Given the description of an element on the screen output the (x, y) to click on. 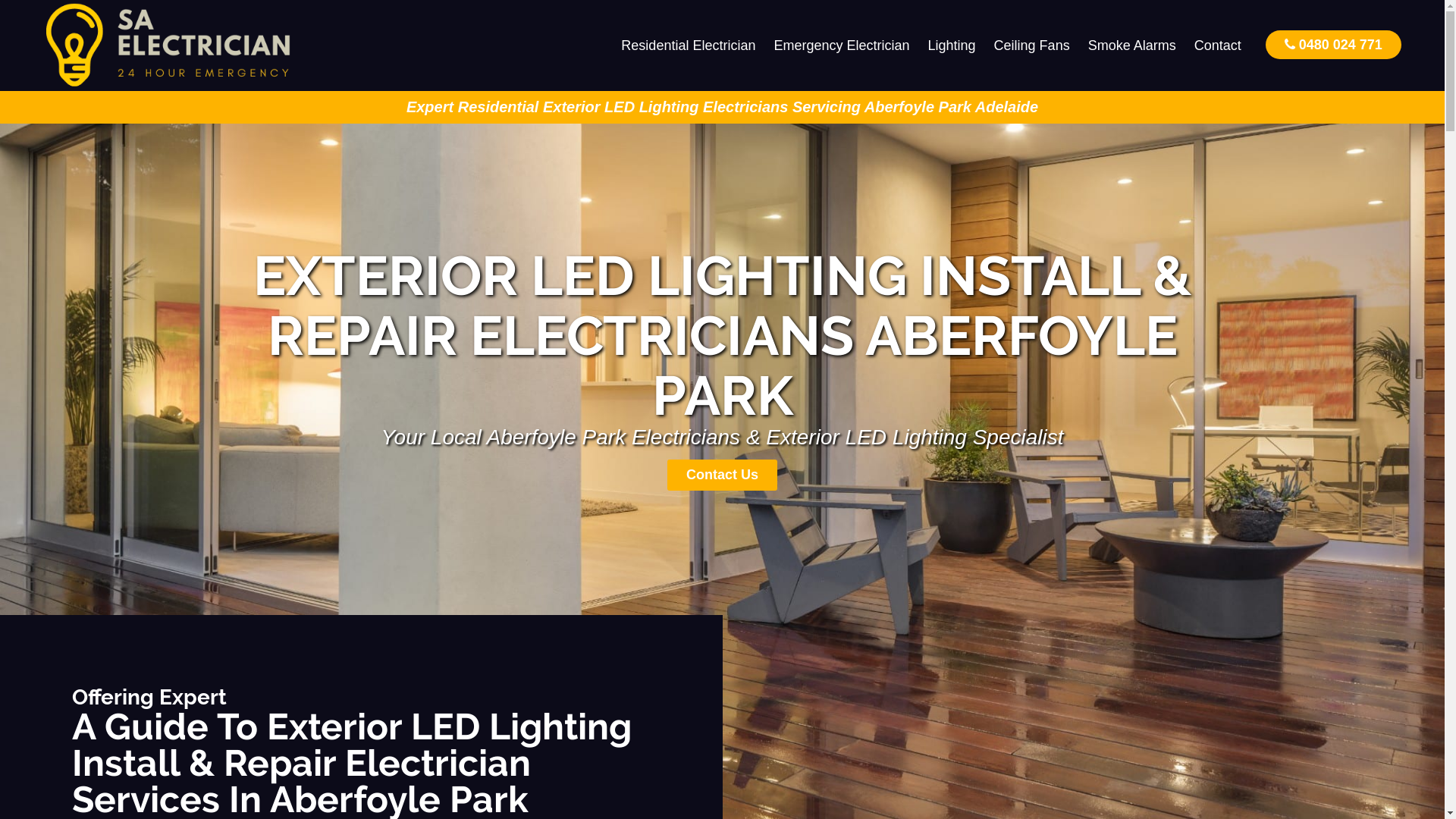
Ceiling Fans Element type: text (1032, 45)
0480 024 771 Element type: text (1333, 44)
Smoke Alarms Element type: text (1132, 45)
Residential Electrician Element type: text (687, 45)
Contact Element type: text (1217, 45)
Lighting Element type: text (952, 45)
Emergency Electrician Element type: text (841, 45)
Contact Us Element type: text (722, 474)
